Given the description of an element on the screen output the (x, y) to click on. 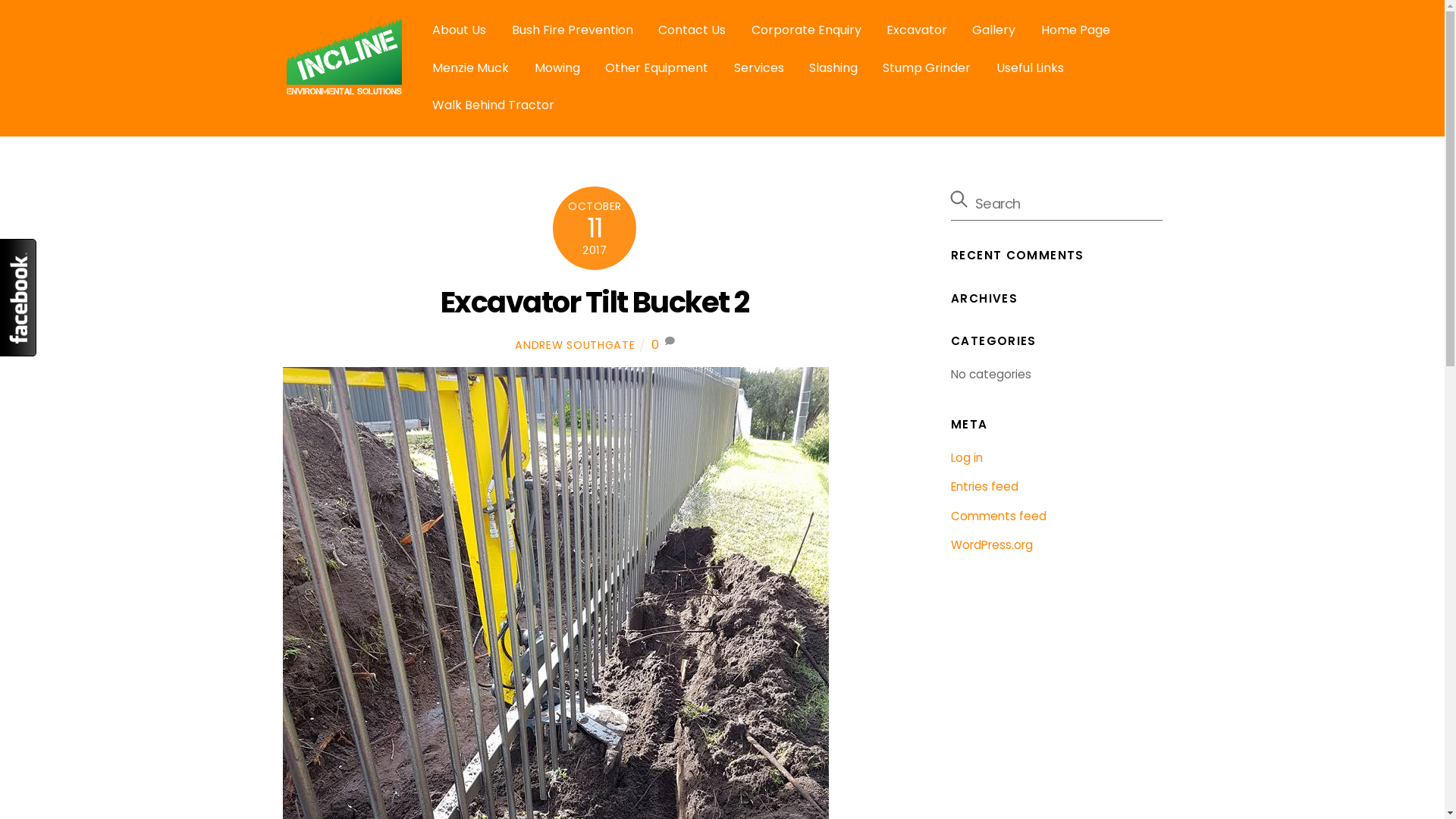
Stump Grinder Element type: text (926, 67)
Incline Environmental Solutions Element type: hover (342, 88)
Log in Element type: text (966, 457)
Search Element type: hover (1055, 202)
Smaller-Logo Element type: hover (342, 55)
About Us Element type: text (458, 30)
Slashing Element type: text (833, 67)
Walk Behind Tractor Element type: text (492, 105)
Excavator Element type: text (916, 30)
Mowing Element type: text (557, 67)
0 Element type: text (654, 344)
WordPress.org Element type: text (991, 544)
Corporate Enquiry Element type: text (805, 30)
Bush Fire Prevention Element type: text (572, 30)
Entries feed Element type: text (984, 486)
ANDREW SOUTHGATE Element type: text (574, 344)
Home Page Element type: text (1075, 30)
Comments feed Element type: text (998, 516)
Contact Us Element type: text (691, 30)
Excavator Tilt Bucket 2 Element type: text (594, 302)
Menzie Muck Element type: text (470, 67)
Useful Links Element type: text (1029, 67)
Other Equipment Element type: text (656, 67)
Services Element type: text (758, 67)
Gallery Element type: text (993, 30)
